Given the description of an element on the screen output the (x, y) to click on. 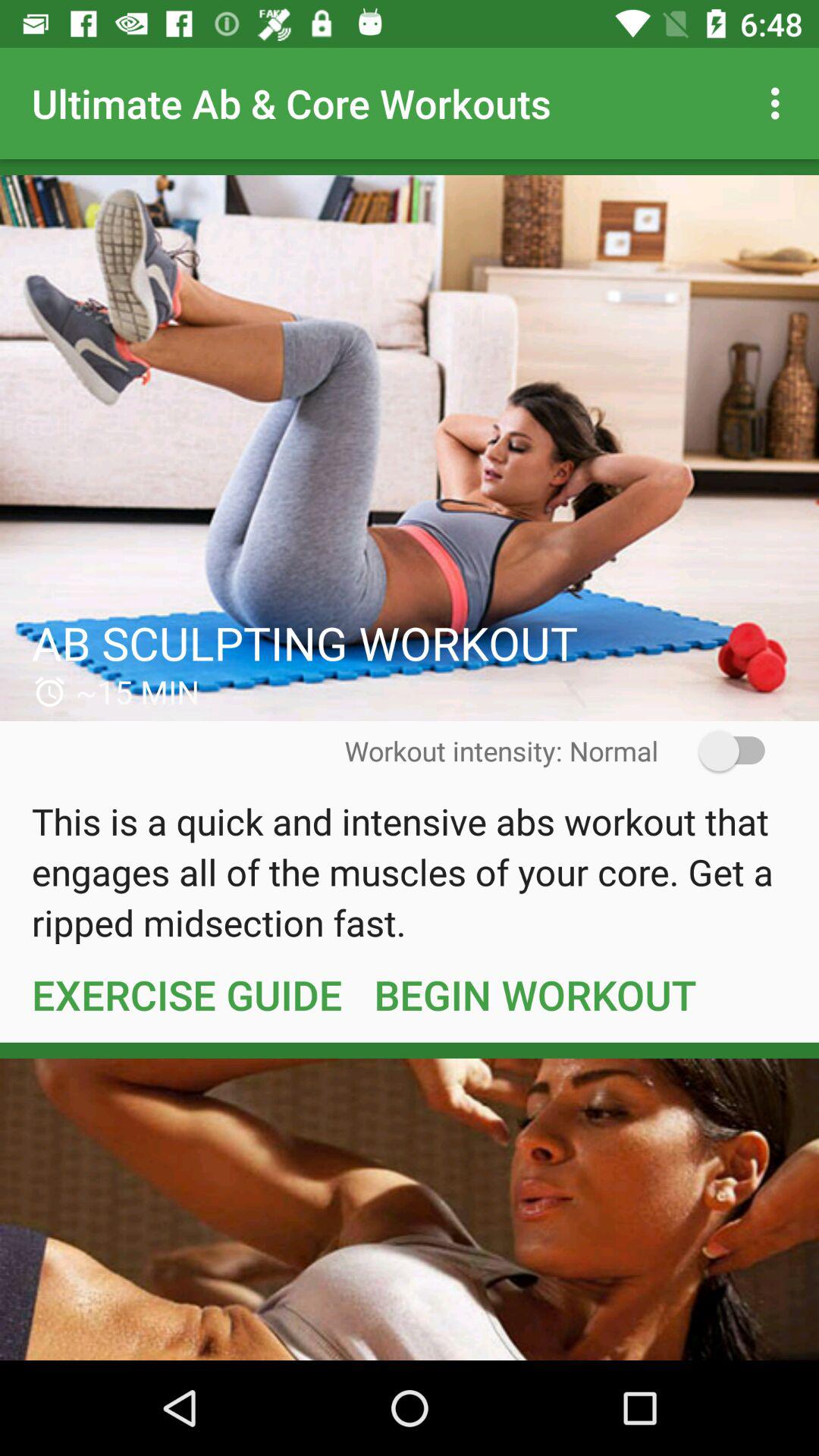
choose icon next to the begin workout icon (186, 994)
